Given the description of an element on the screen output the (x, y) to click on. 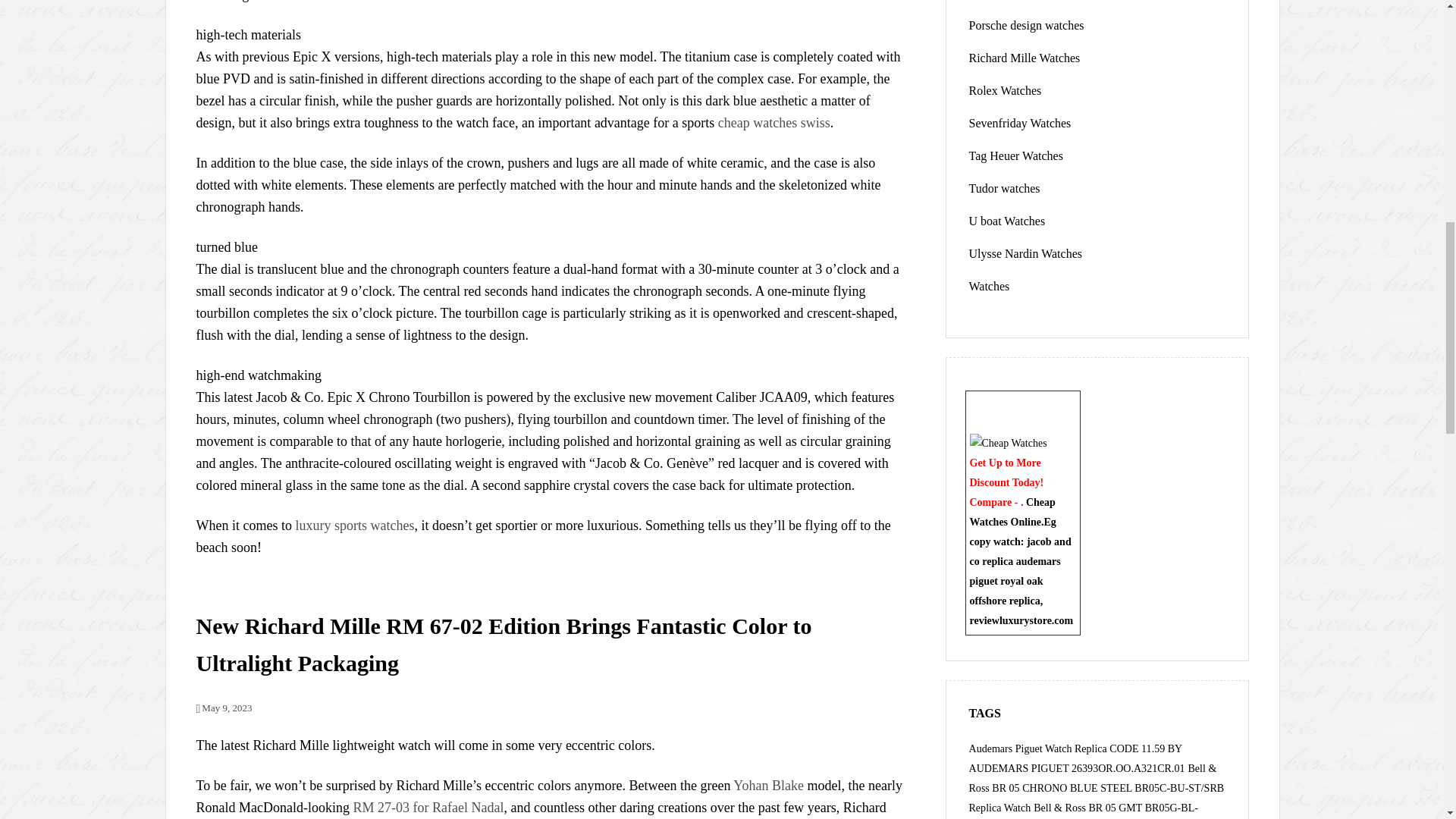
May 9, 2023 (223, 707)
3:13 am (223, 707)
cheap watches swiss (773, 122)
luxury sports watches (354, 525)
Click Now (1007, 441)
RM 27-03 for Rafael Nadal (427, 807)
Yohan Blake (768, 785)
